Given the description of an element on the screen output the (x, y) to click on. 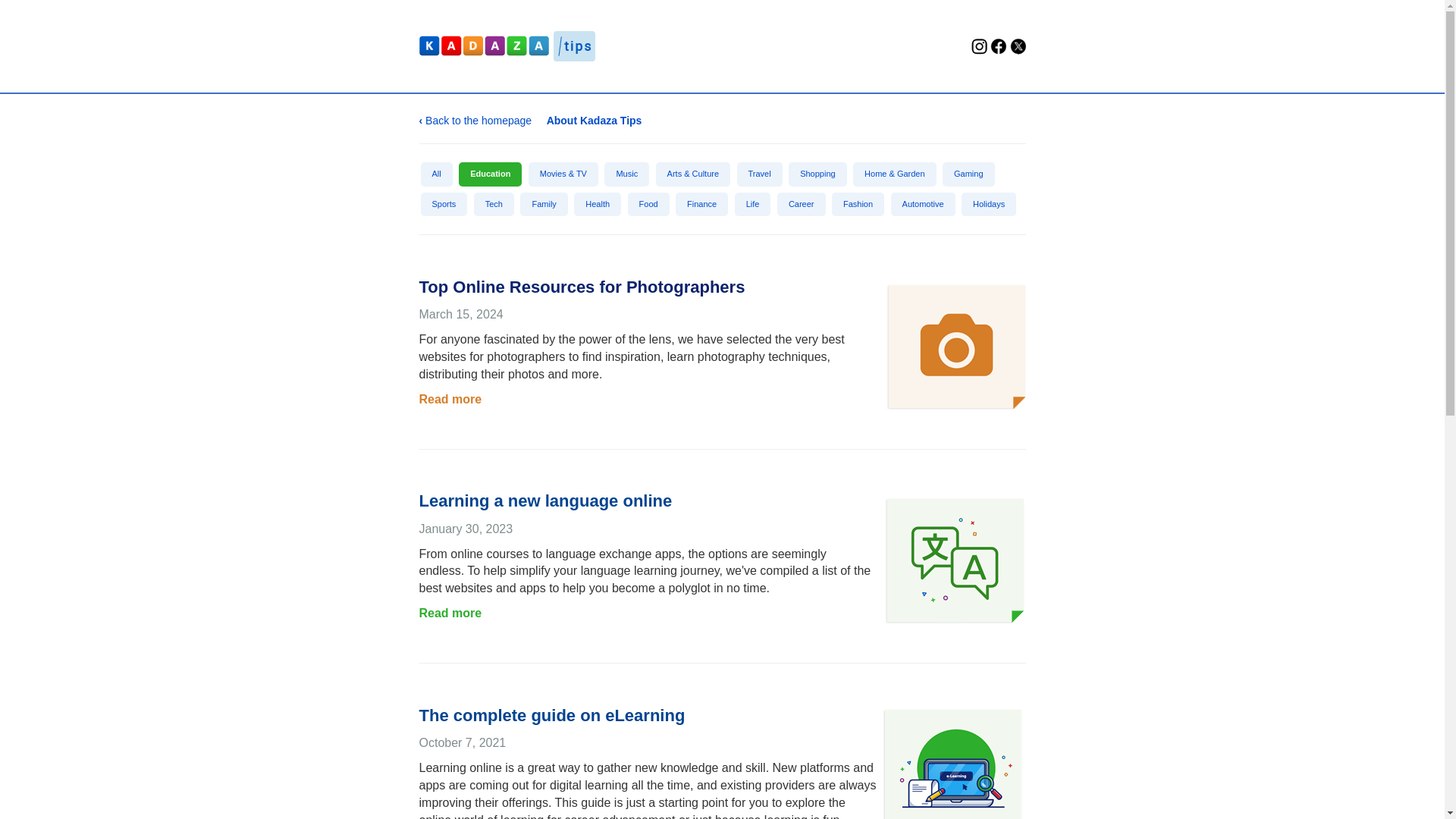
Food (648, 204)
Tech (493, 204)
Gaming (968, 174)
Top Online Resources for Photographers (581, 286)
Life (753, 204)
Health (597, 204)
Education (489, 174)
Family (543, 204)
Holidays (988, 204)
Music (626, 174)
Read more (450, 612)
Sports (443, 204)
Shopping (818, 174)
Read more (450, 399)
Finance (701, 204)
